Given the description of an element on the screen output the (x, y) to click on. 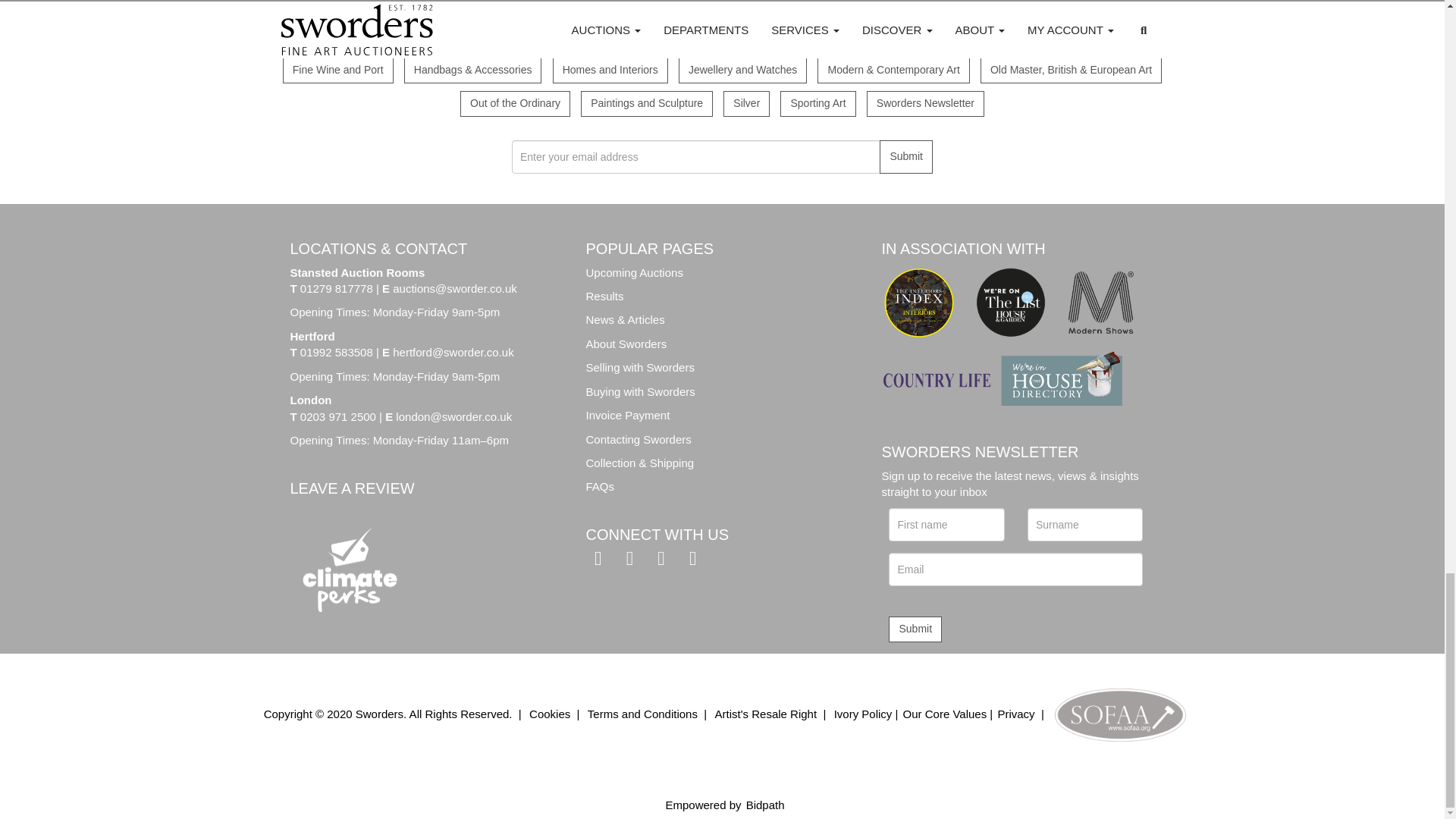
e2da43f097 (865, 37)
2b7ee96a06 (832, 71)
92b2006b84 (399, 37)
64ebaa8c0e (746, 37)
1f95fae8e7 (1035, 37)
a9a4fa8a39 (567, 71)
ea748b3d0a (693, 71)
2cff2c0b57 (737, 103)
eee360cc8c (418, 71)
-1 (357, 37)
f4b7cdc253 (564, 37)
6be3f643c9 (595, 103)
dc8ac0c84c (636, 37)
44af51d808 (475, 103)
b80dd72854 (995, 71)
